Given the description of an element on the screen output the (x, y) to click on. 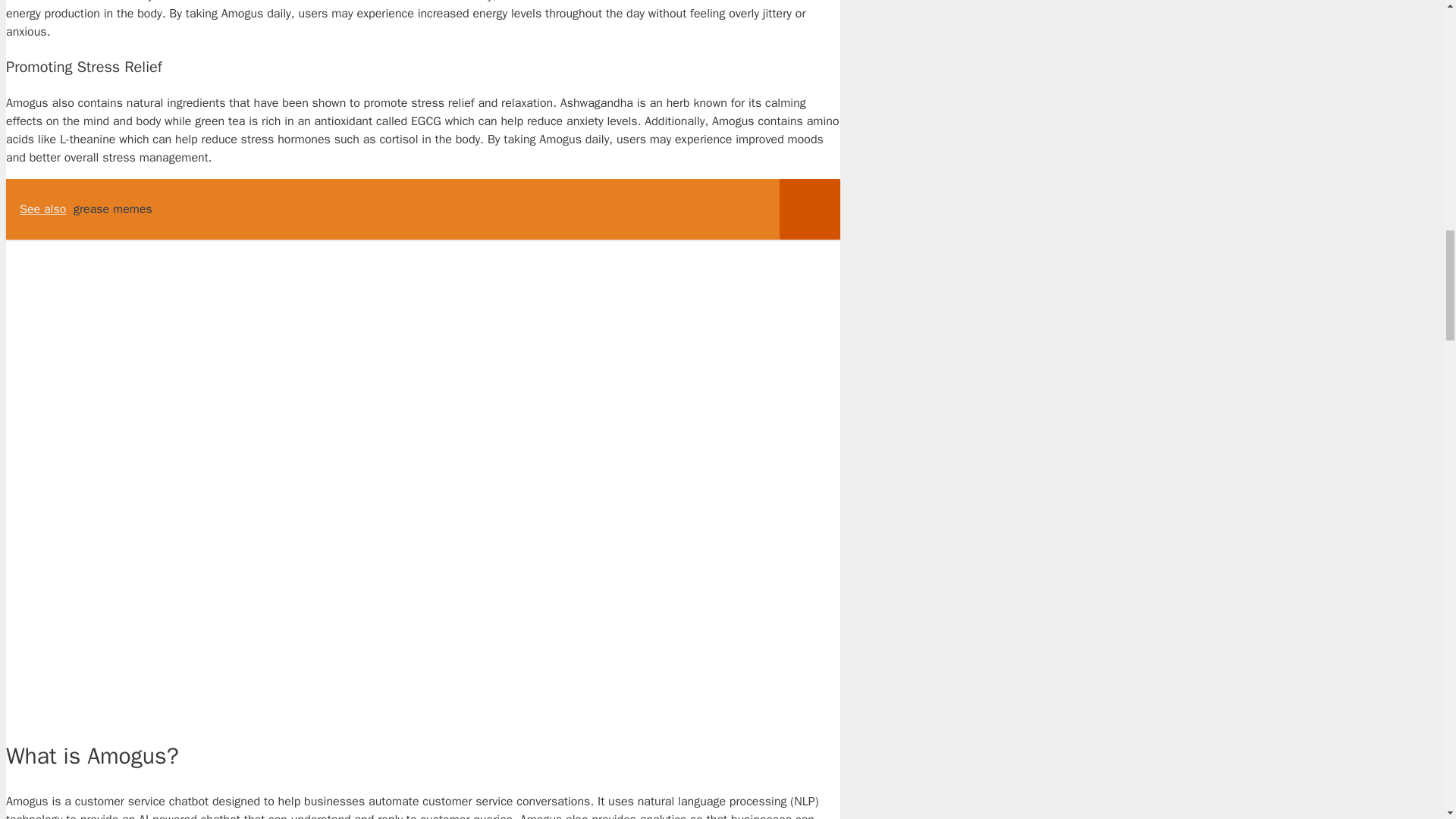
See also  grease memes (422, 209)
